Given the description of an element on the screen output the (x, y) to click on. 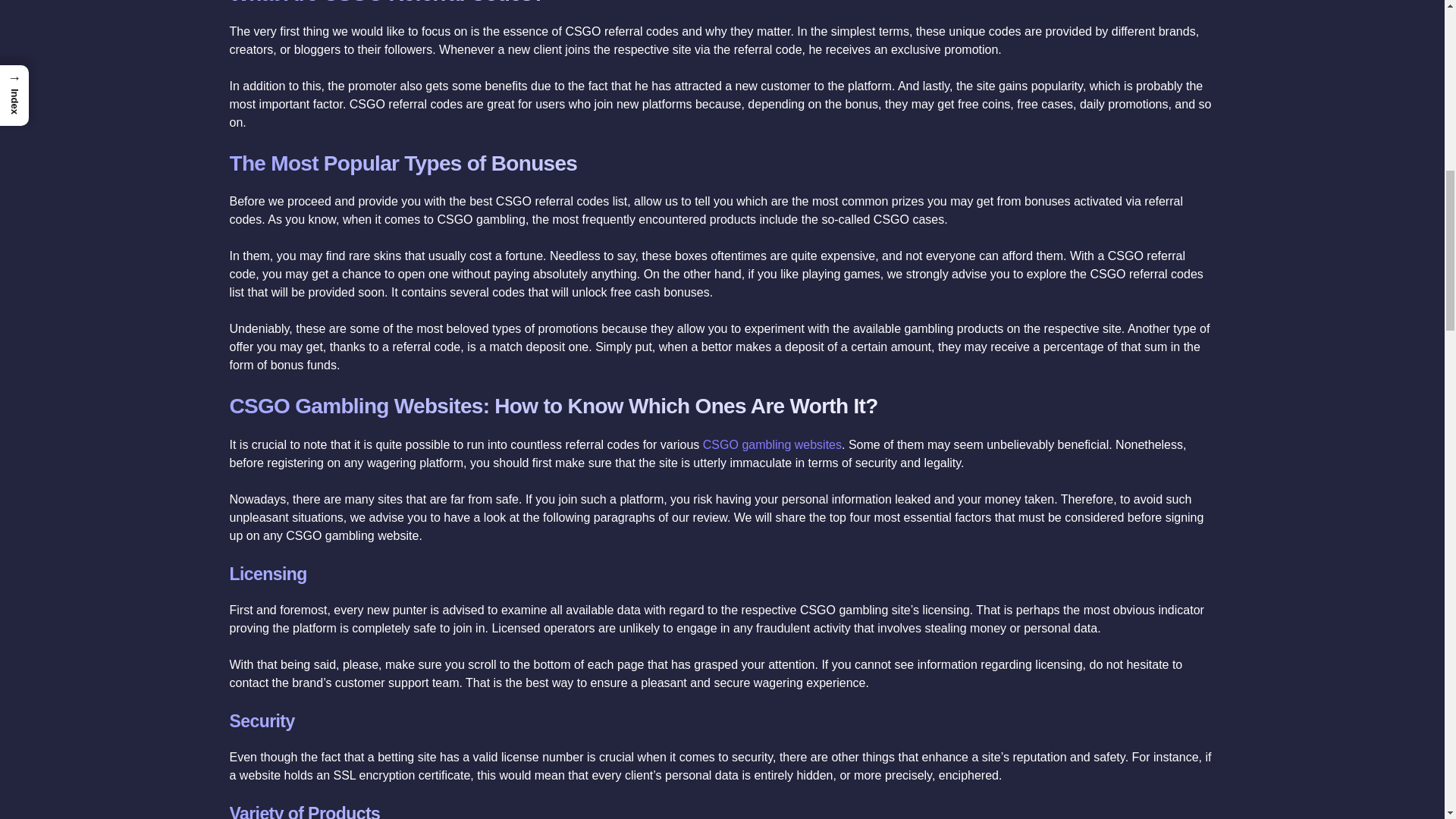
CSGO gambling websites (772, 444)
